Given the description of an element on the screen output the (x, y) to click on. 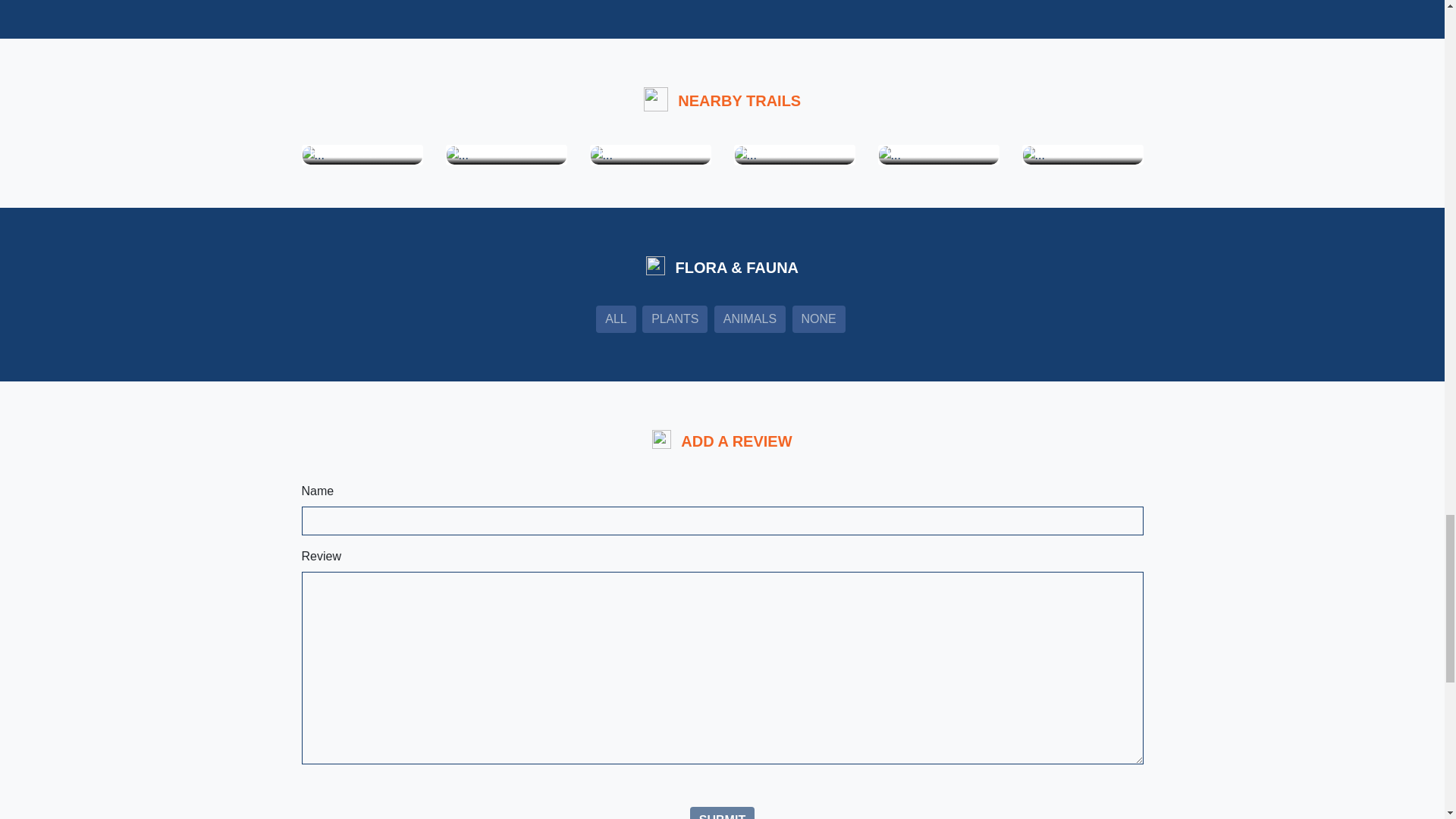
Park to Playa Trail (312, 154)
